Given the description of an element on the screen output the (x, y) to click on. 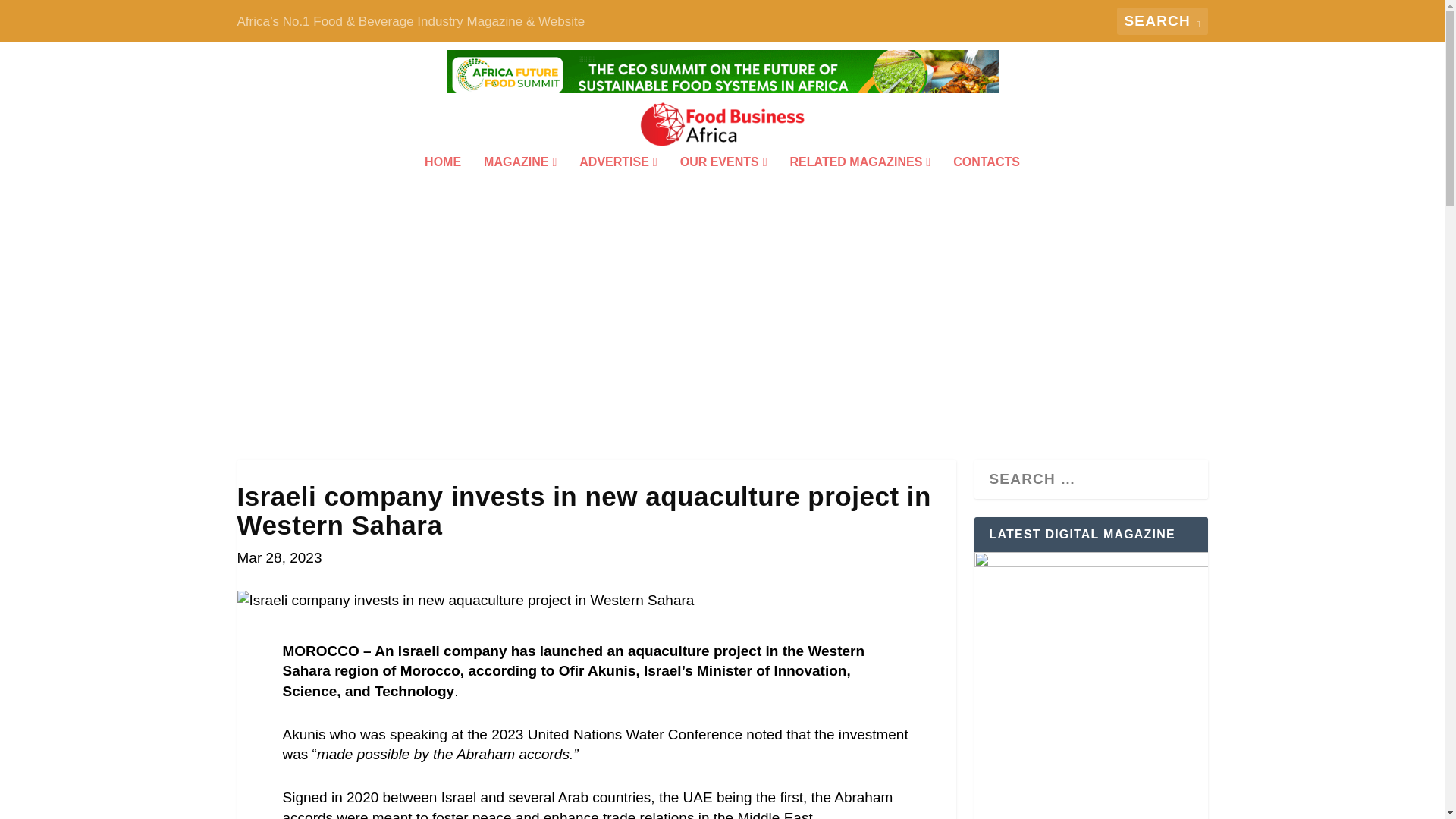
OUR EVENTS (723, 182)
RELATED MAGAZINES (860, 182)
ADVERTISE (617, 182)
Search for: (1161, 21)
MAGAZINE (519, 182)
CONTACTS (986, 182)
